Given the description of an element on the screen output the (x, y) to click on. 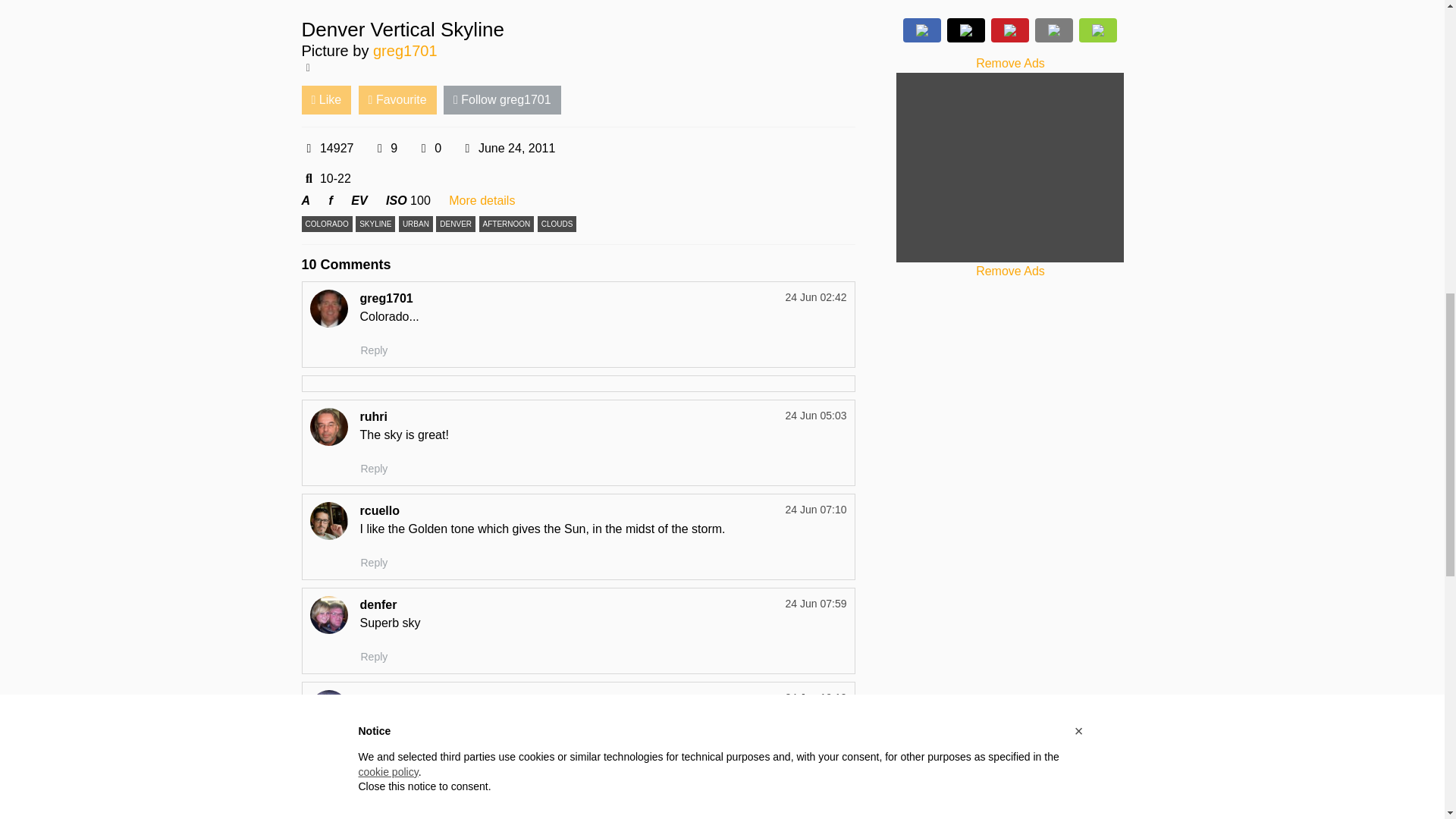
Reply (373, 468)
favourites (423, 148)
likes (379, 148)
Reply (373, 562)
More details (481, 200)
ISO (396, 200)
Reply (373, 656)
Follow greg1701 (502, 99)
Like (326, 99)
Reply (373, 769)
views (309, 148)
June 24, 2011 07:10 (816, 509)
June 24, 2011 02:42 (508, 148)
June 24, 2011 05:03 (816, 415)
Favourite (397, 99)
